Given the description of an element on the screen output the (x, y) to click on. 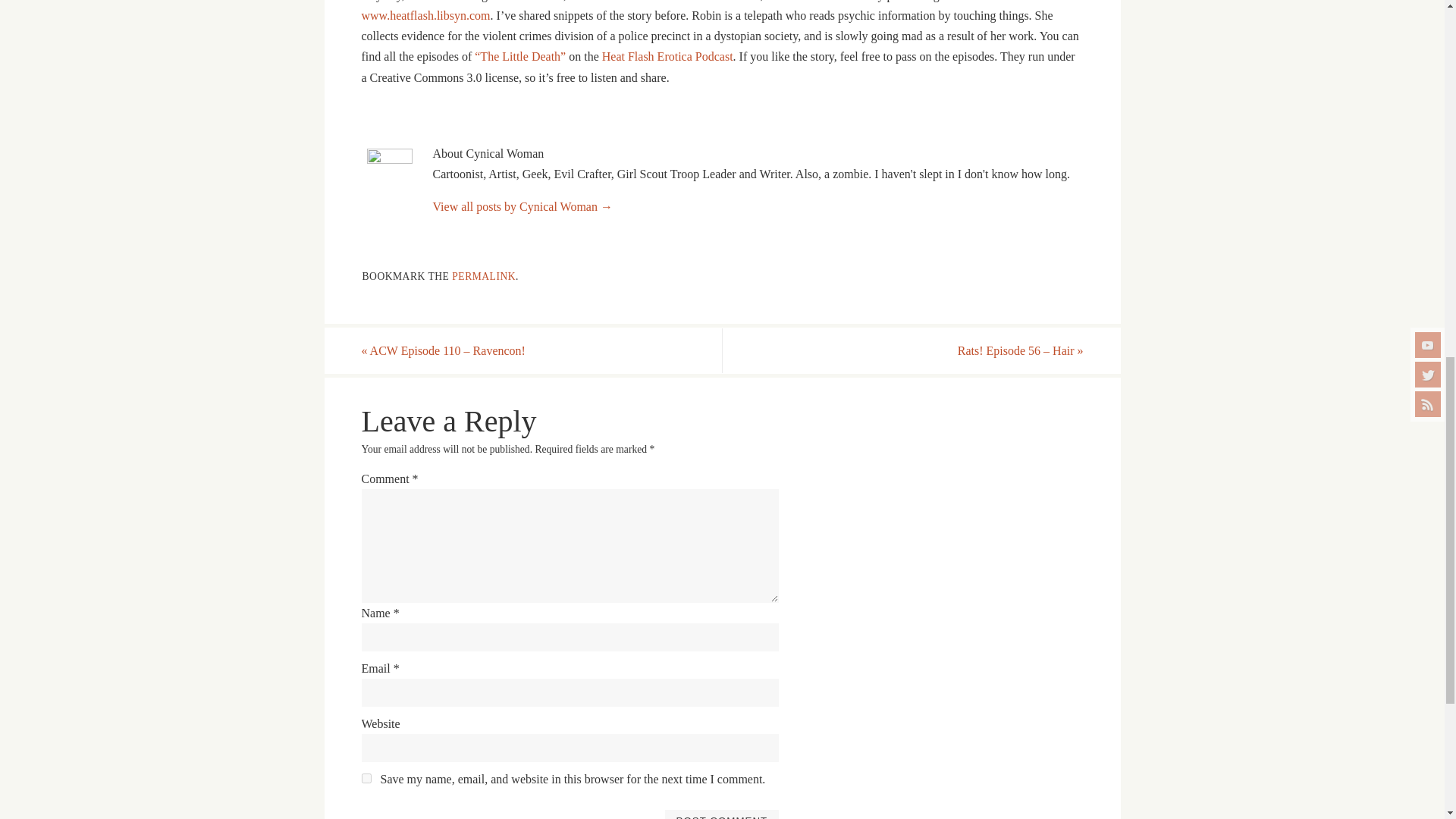
www.heatflash.libsyn.com (425, 15)
The Little Death podcast novel (520, 56)
yes (366, 777)
Post Comment (721, 814)
Heat Flash Erotica Podcast (667, 56)
Post Comment (721, 814)
Heat Flash Erotica Podcast (667, 56)
PERMALINK (483, 276)
